Given the description of an element on the screen output the (x, y) to click on. 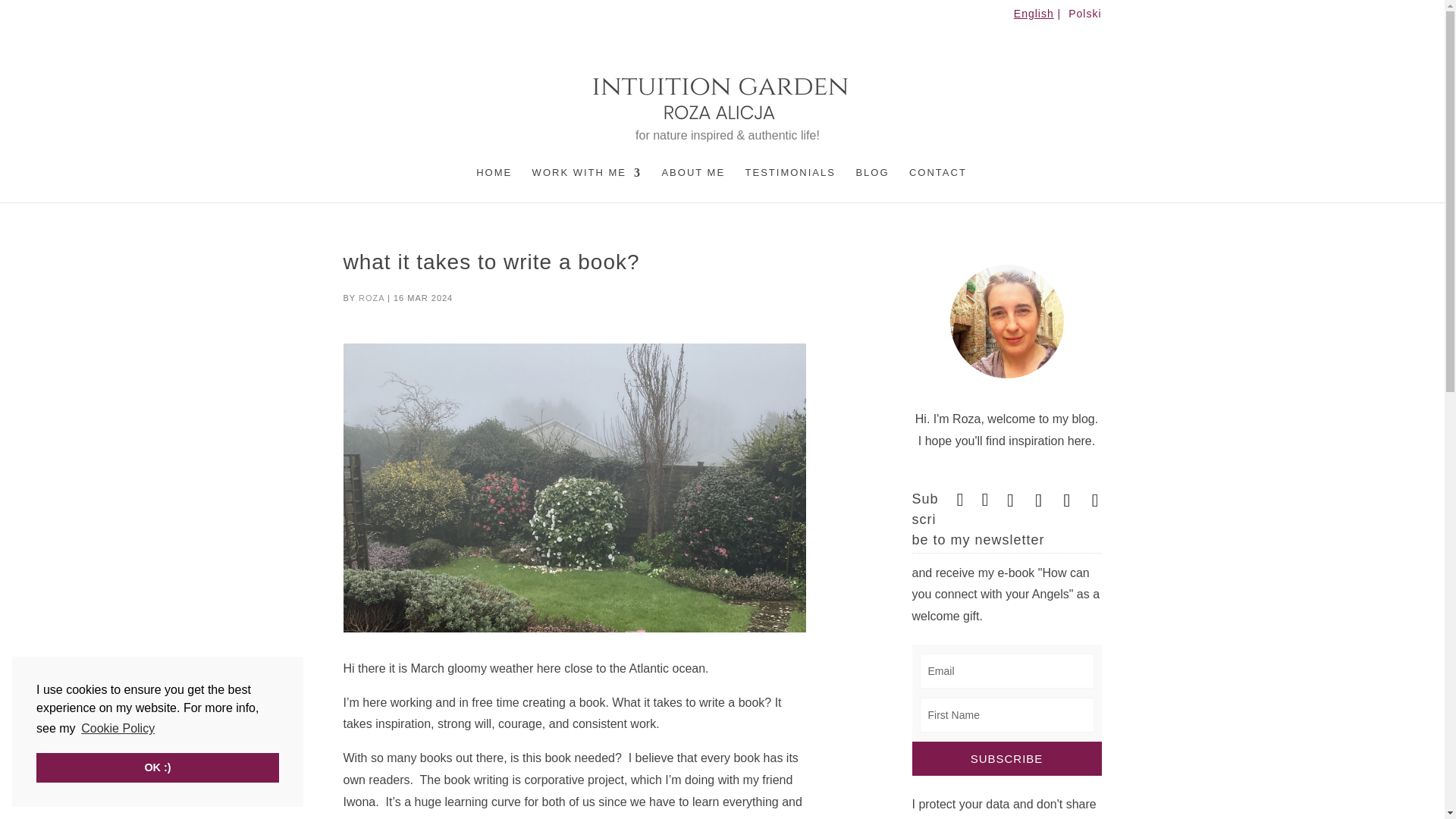
Subscribe (1005, 758)
Posts by Roza (371, 297)
ABOUT ME (693, 184)
Cookie Policy (117, 728)
CONTACT (937, 184)
HOME (494, 184)
ROZA (371, 297)
English (1038, 16)
BLOG (872, 184)
English (1038, 16)
TESTIMONIALS (790, 184)
WORK WITH ME (587, 184)
Polski (1084, 16)
Polski (1084, 16)
Subscribe (1005, 758)
